Given the description of an element on the screen output the (x, y) to click on. 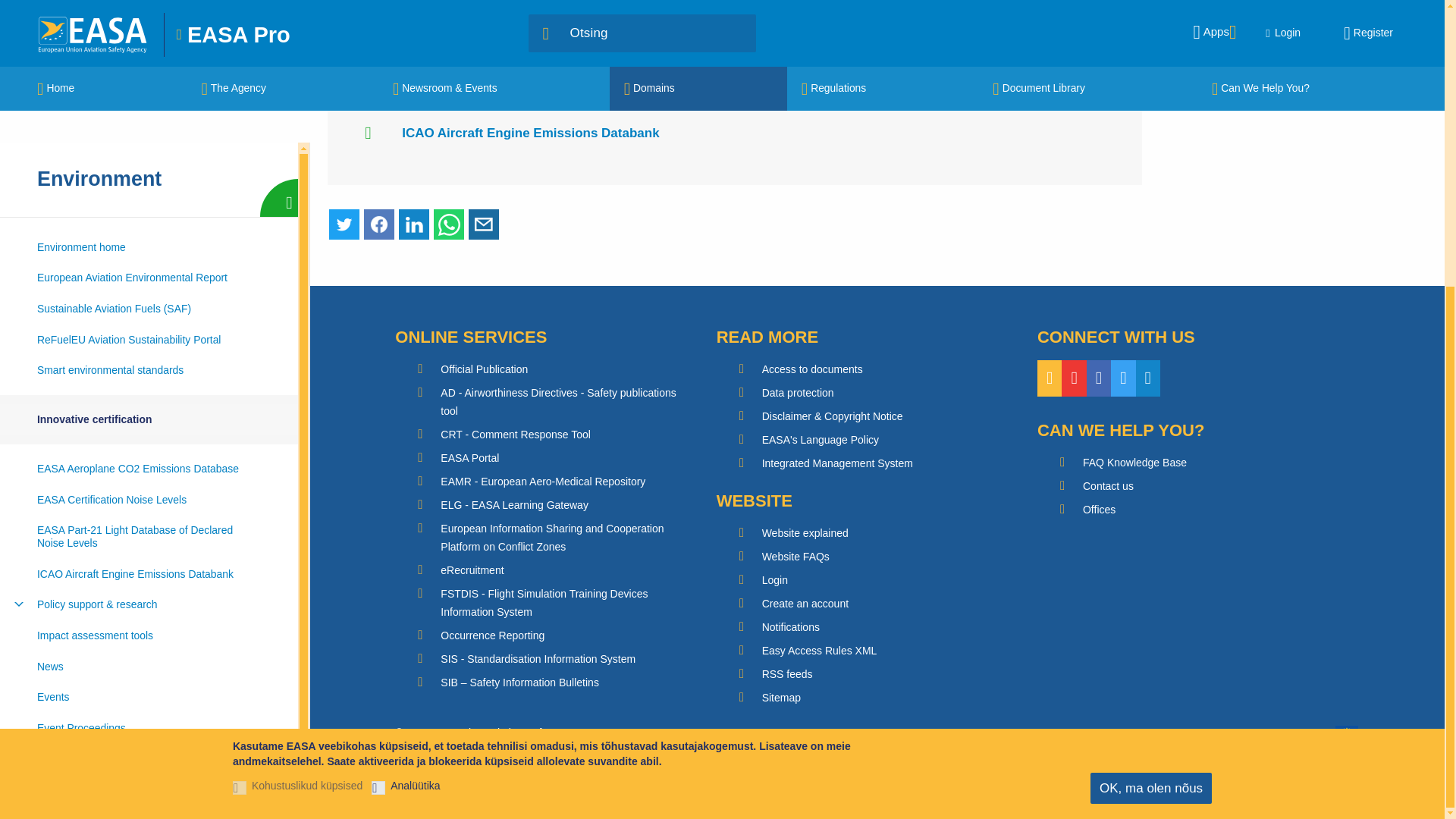
Whatsapp (448, 224)
Twitter (344, 224)
LinkedIn (413, 224)
Toggle menu (18, 170)
Facebook (379, 224)
E-Post (483, 224)
